Given the description of an element on the screen output the (x, y) to click on. 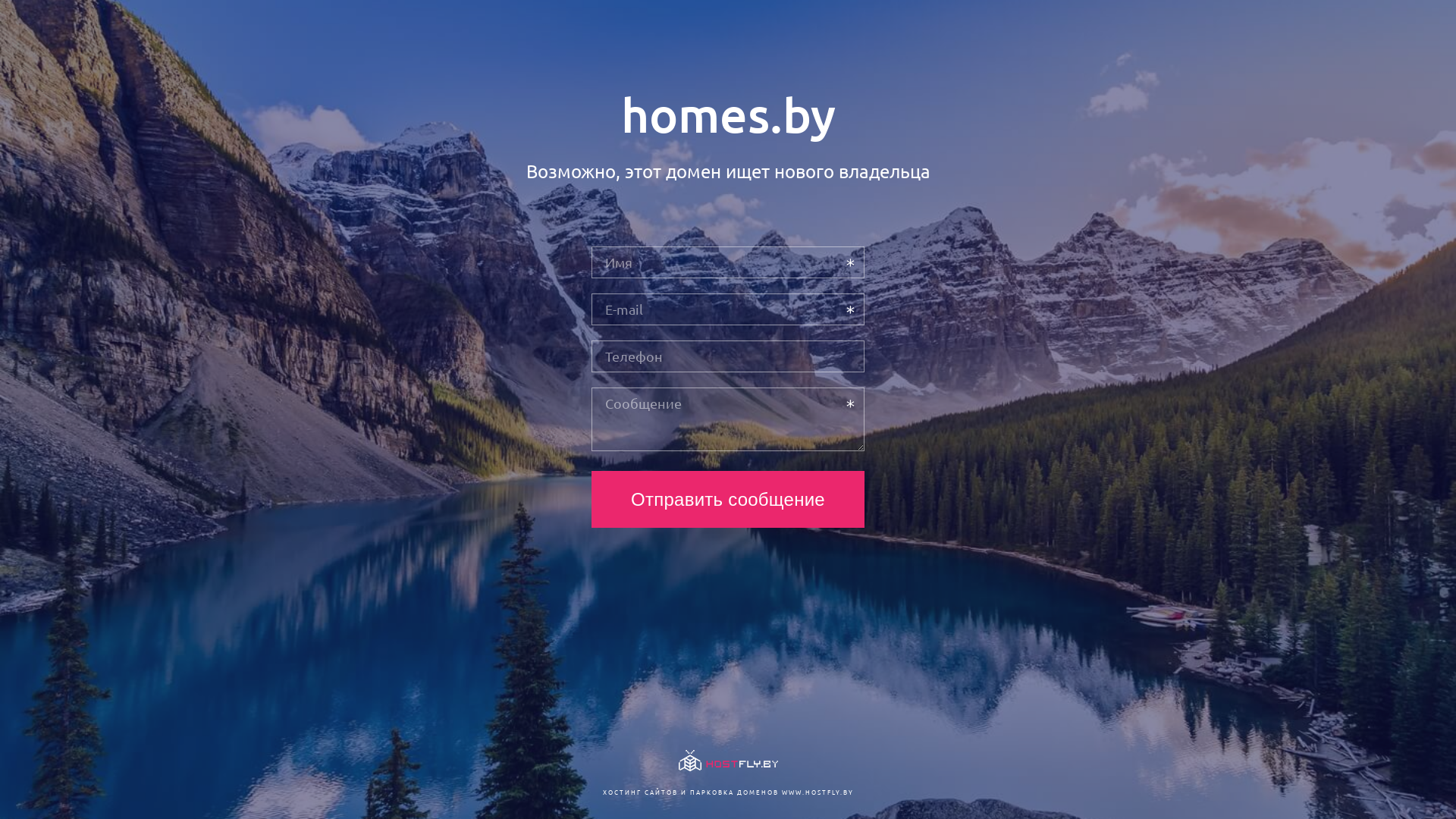
WWW.HOSTFLY.BY Element type: text (817, 791)
